Given the description of an element on the screen output the (x, y) to click on. 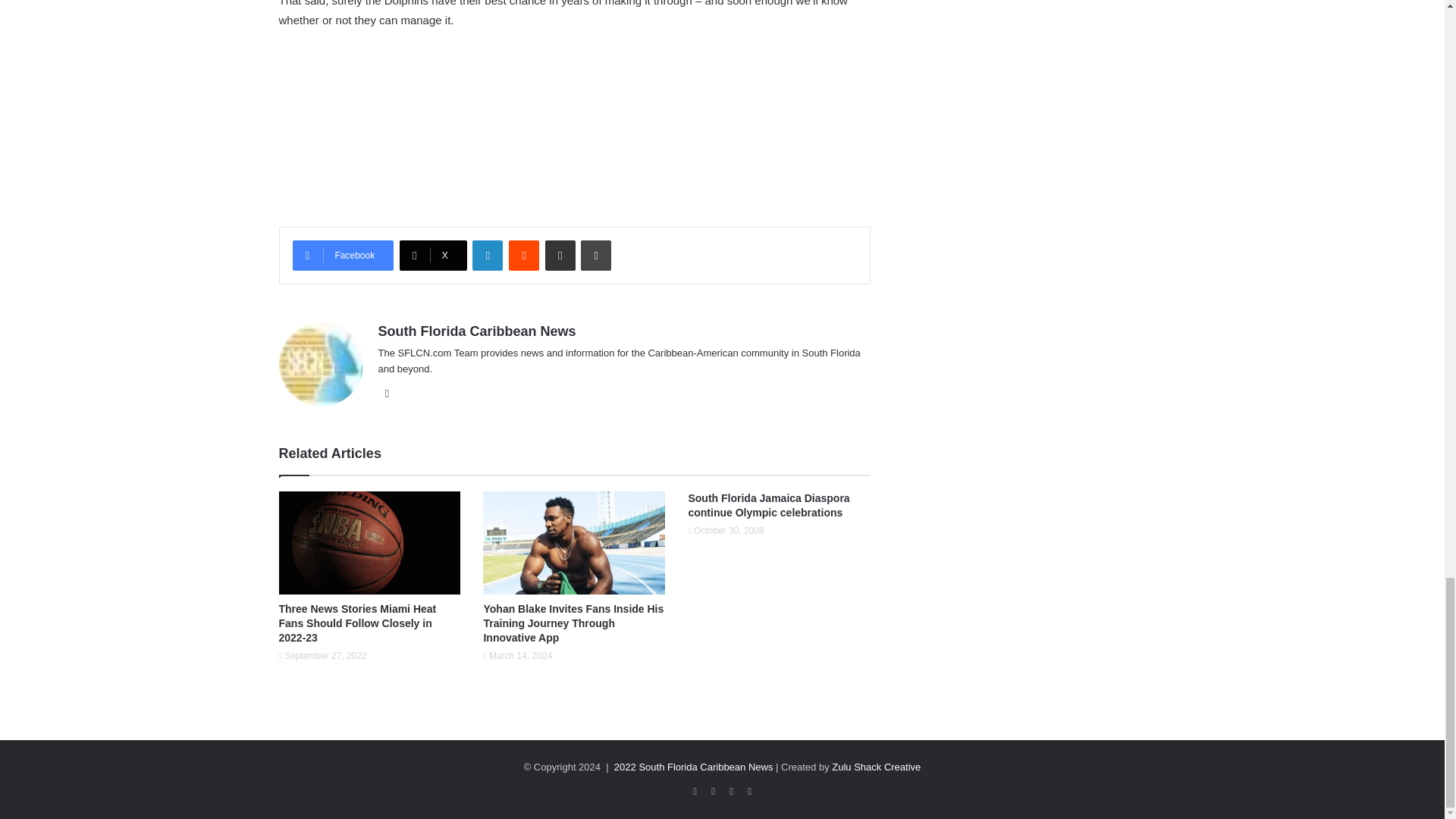
Facebook (343, 255)
X (432, 255)
Print (595, 255)
LinkedIn (486, 255)
Share via Email (559, 255)
X (432, 255)
Reddit (523, 255)
Facebook (343, 255)
